Given the description of an element on the screen output the (x, y) to click on. 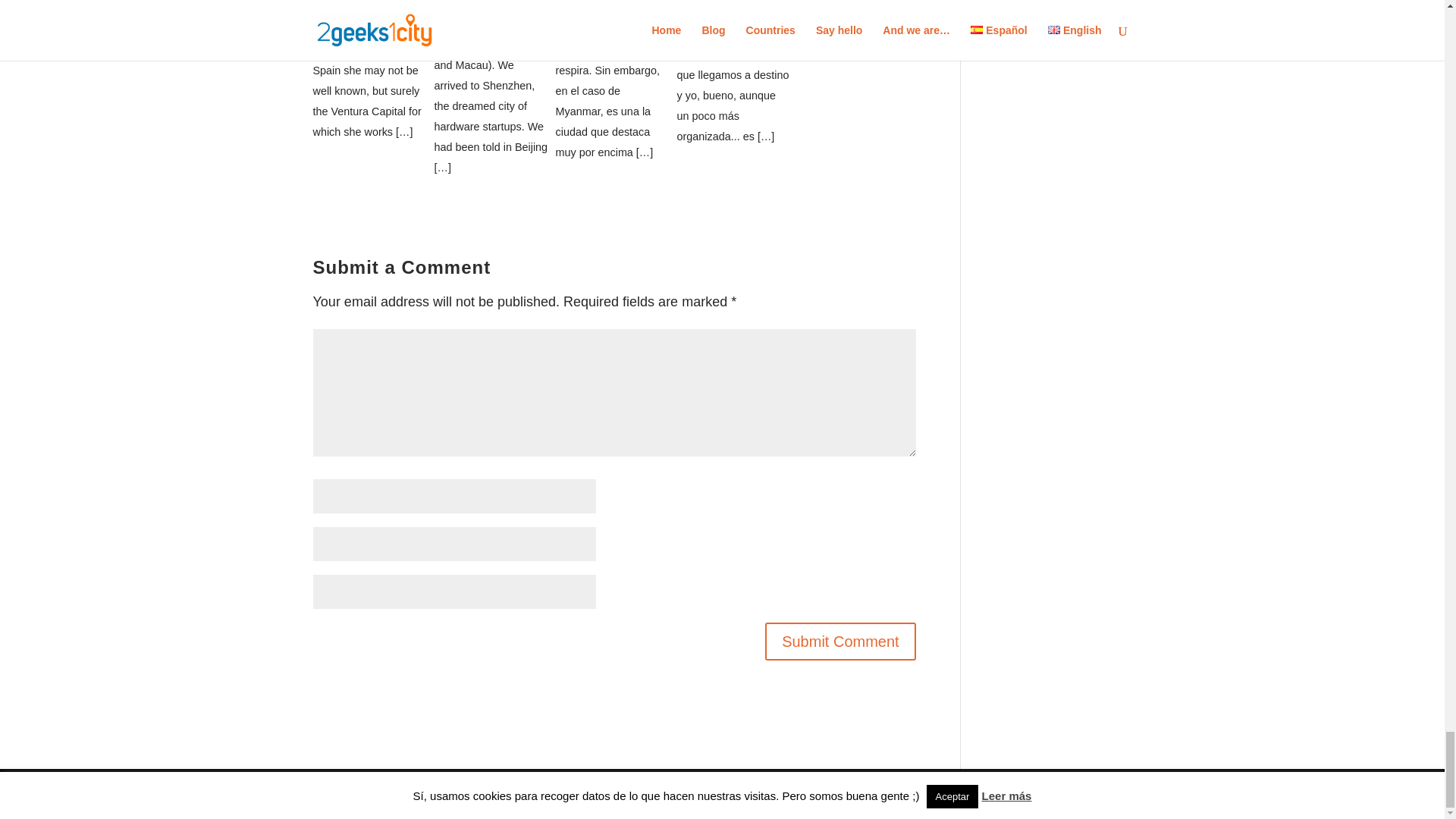
Premium WordPress Themes (445, 793)
Submit Comment (840, 641)
